Given the description of an element on the screen output the (x, y) to click on. 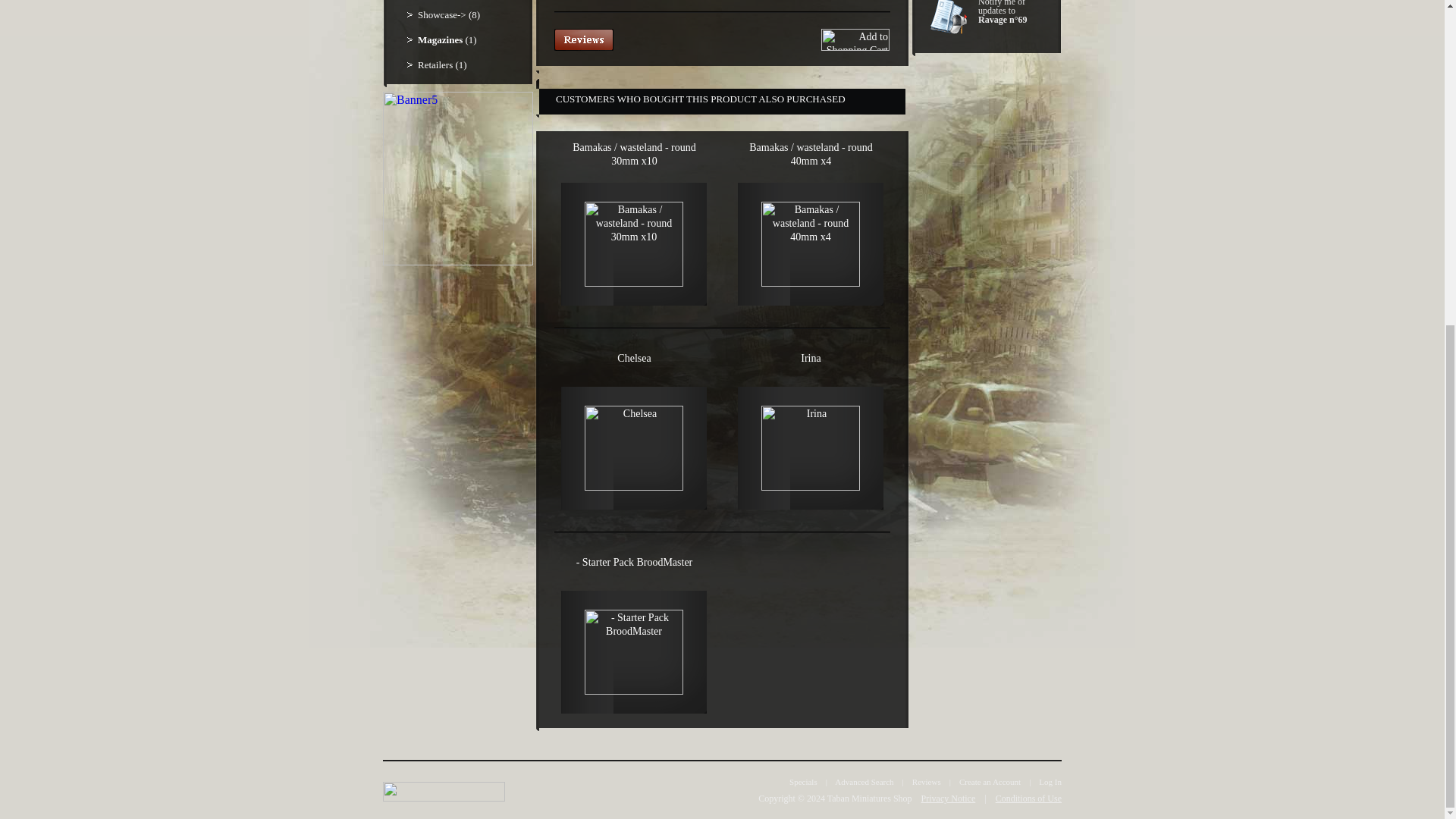
 Chelsea  (633, 447)
- Starter Pack BroodMaster (634, 561)
 - Starter Pack BroodMaster  (633, 651)
Chelsea (633, 357)
Advanced Search (863, 781)
Specials (802, 781)
 Notifications  (950, 17)
 Irina  (810, 447)
 Reviews  (583, 39)
 Add to Shopping Cart  (855, 39)
